Given the description of an element on the screen output the (x, y) to click on. 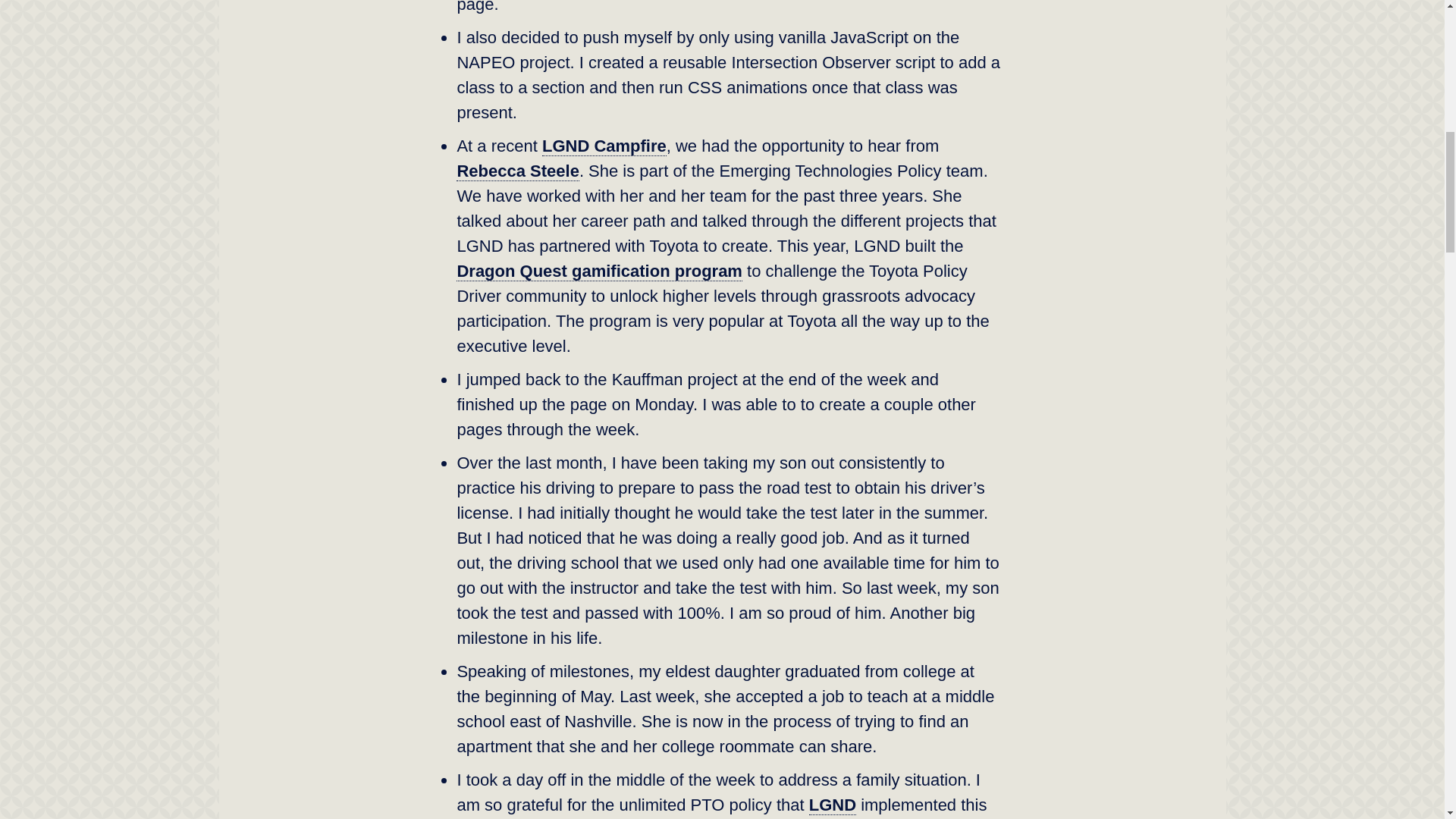
LGND Campfire (603, 146)
Rebecca Steele (517, 170)
Dragon Quest gamification program (599, 271)
LGND (832, 804)
